Given the description of an element on the screen output the (x, y) to click on. 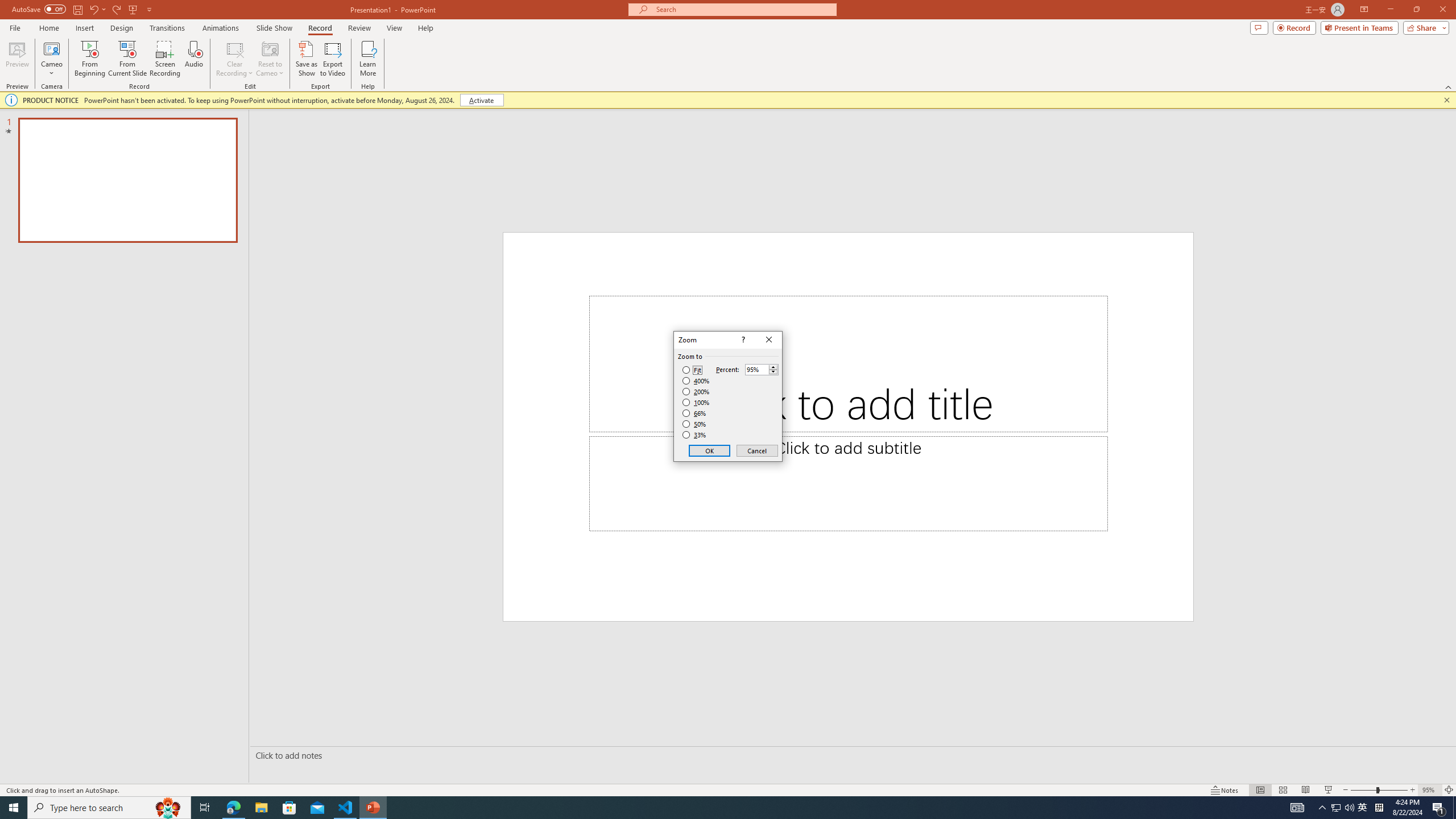
66% (694, 412)
